Given the description of an element on the screen output the (x, y) to click on. 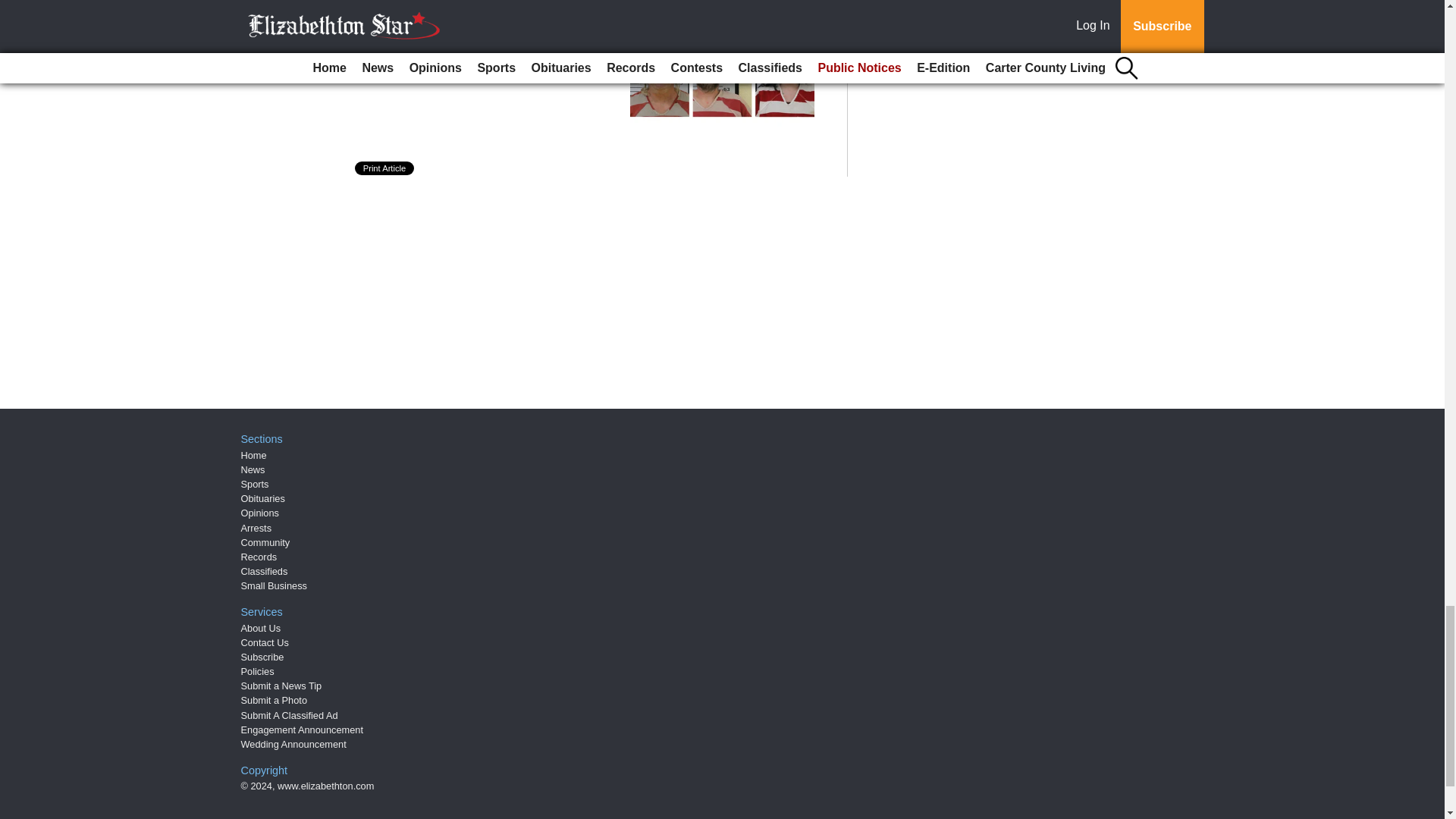
Print Article (384, 168)
